Given the description of an element on the screen output the (x, y) to click on. 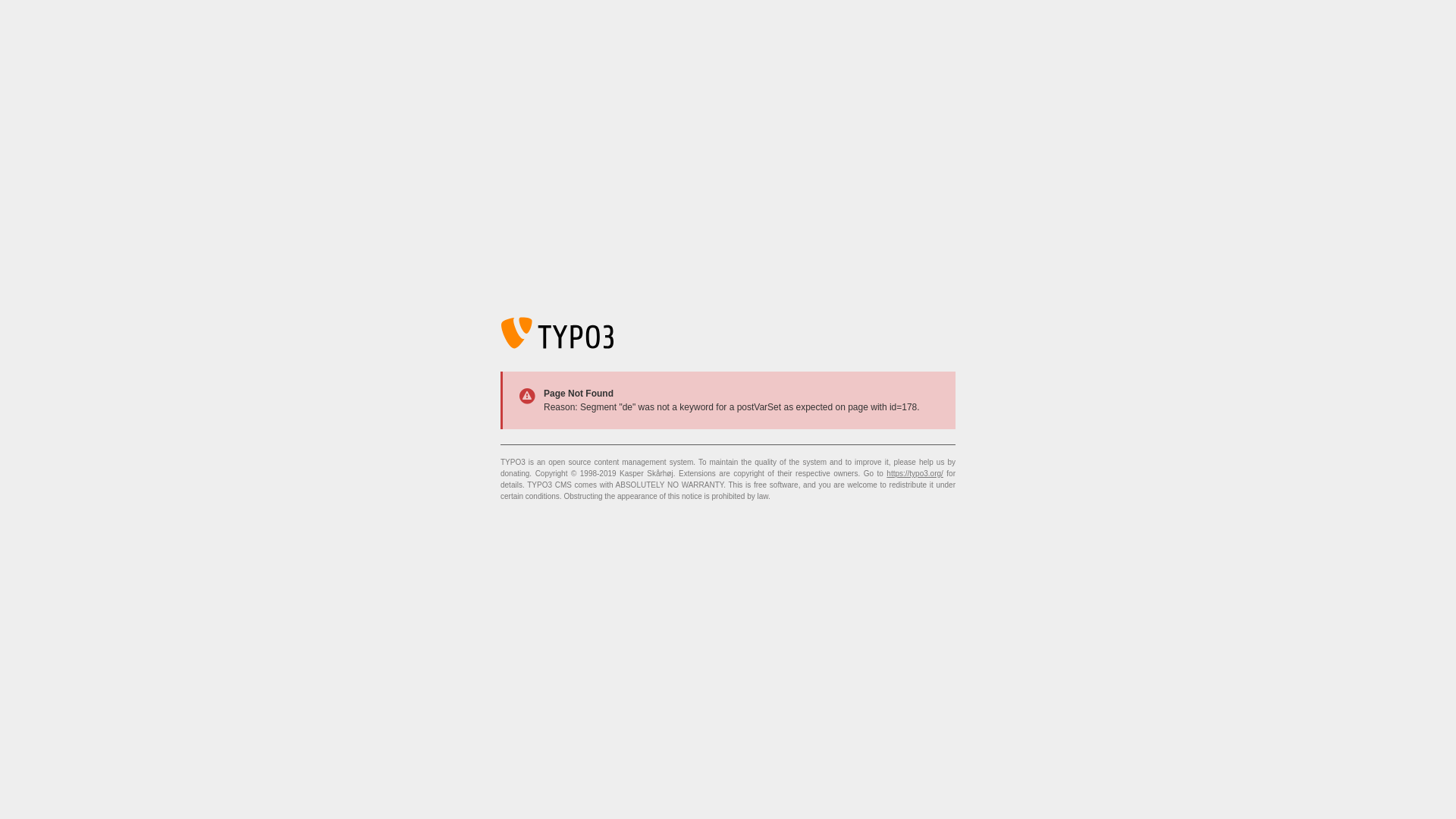
https://typo3.org/ Element type: text (914, 473)
